Given the description of an element on the screen output the (x, y) to click on. 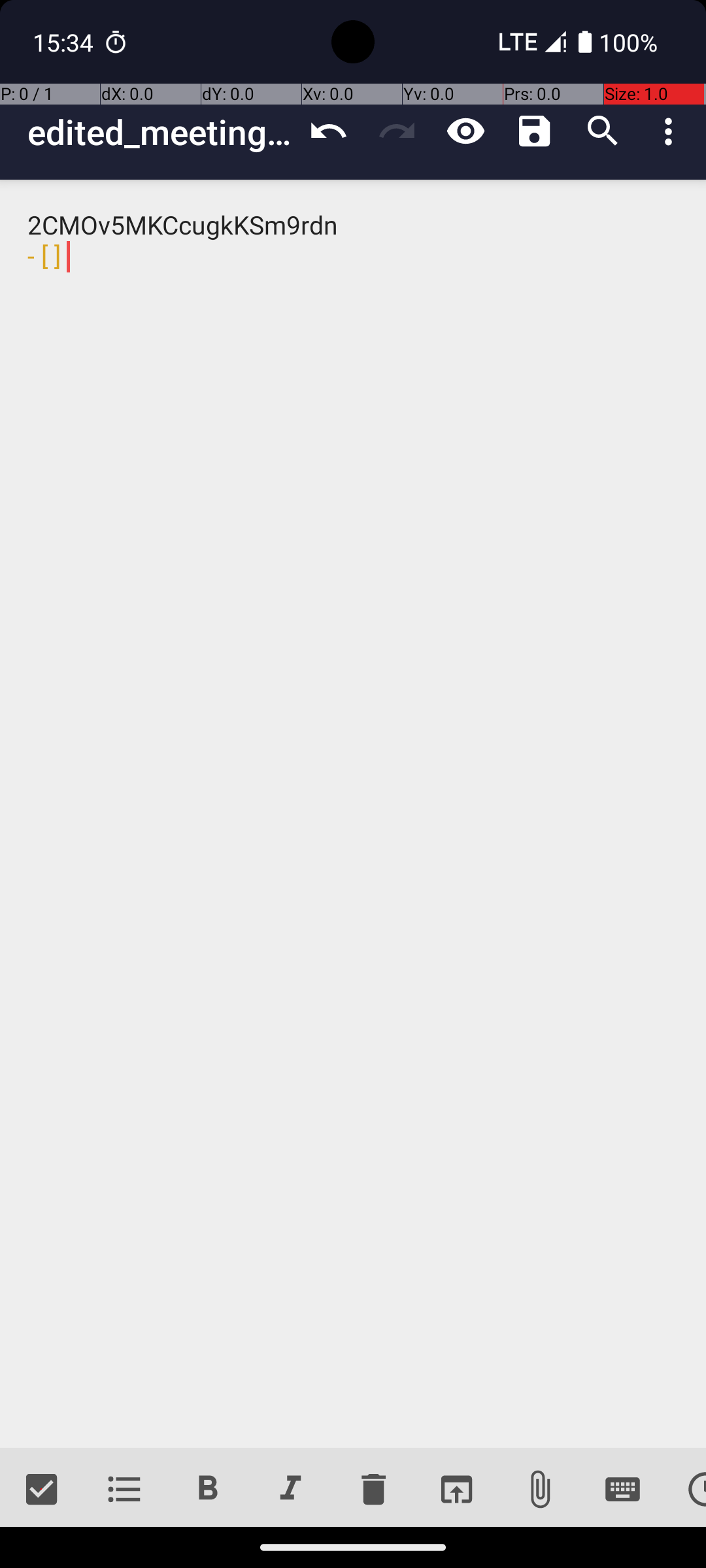
edited_meeting_notes_project_team Element type: android.widget.TextView (160, 131)
2CMOv5MKCcugkKSm9rdn
- [ ]  Element type: android.widget.EditText (353, 813)
